Given the description of an element on the screen output the (x, y) to click on. 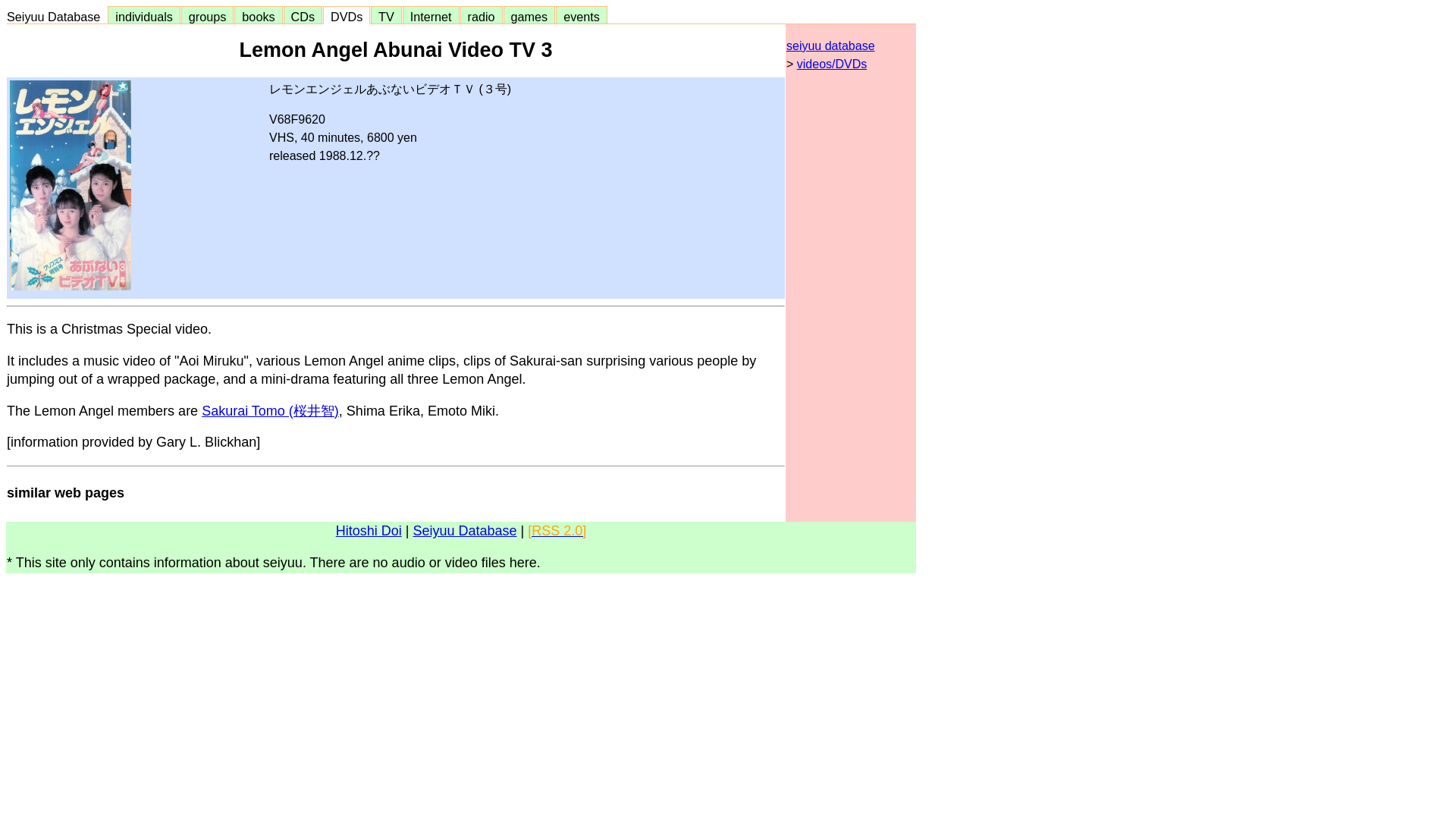
  TV   (385, 17)
  individuals   (143, 17)
Hitoshi Doi (368, 530)
  Internet   (430, 17)
  games   (528, 17)
Seiyuu Database   (56, 17)
  events   (581, 17)
Seiyuu Database (464, 530)
  radio   (481, 17)
  books   (257, 17)
